Given the description of an element on the screen output the (x, y) to click on. 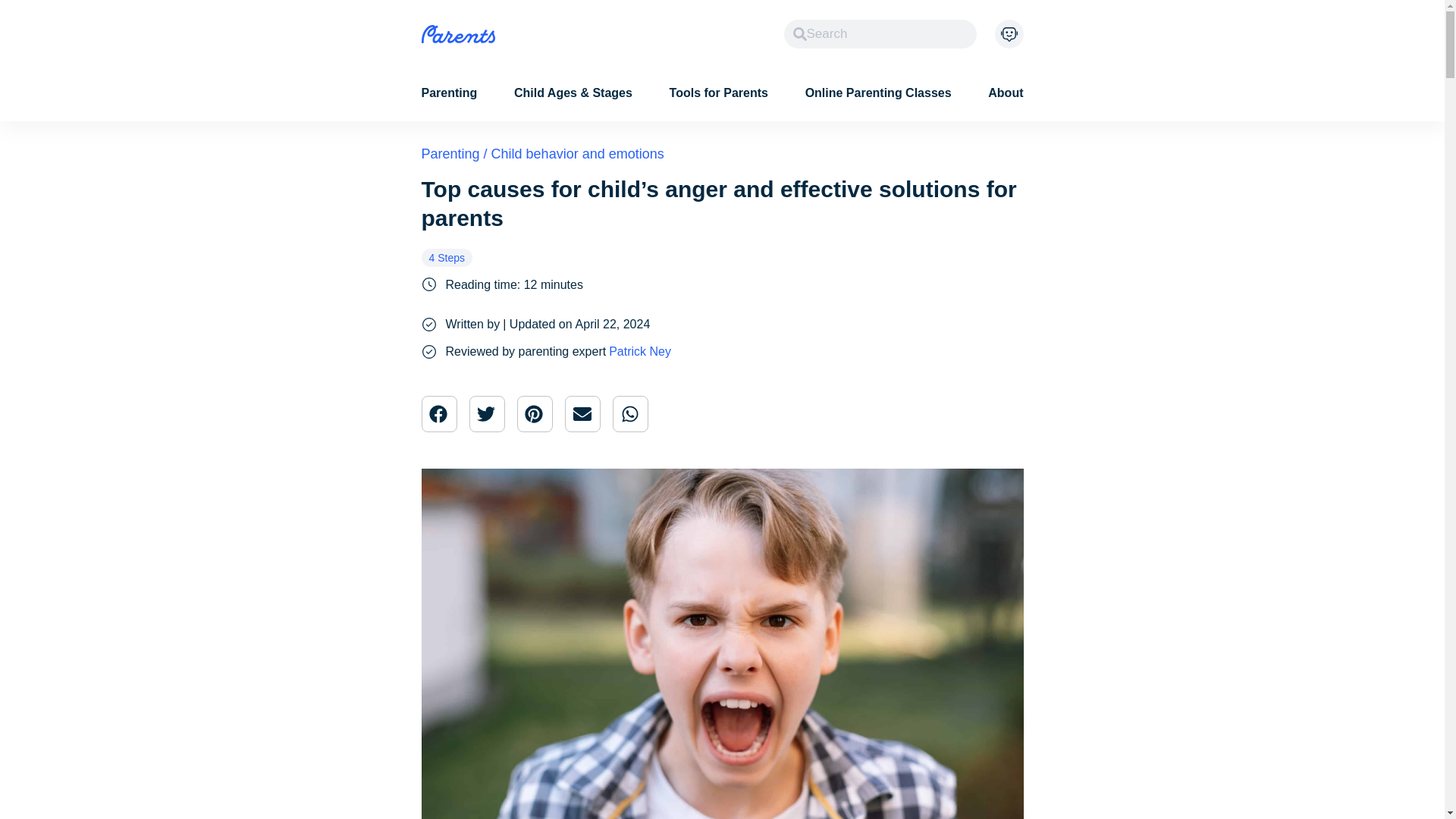
Online Parenting Classes (878, 93)
parentsapp-logo (458, 34)
About (1005, 93)
Tools for Parents (718, 93)
Parenting (449, 93)
